Given the description of an element on the screen output the (x, y) to click on. 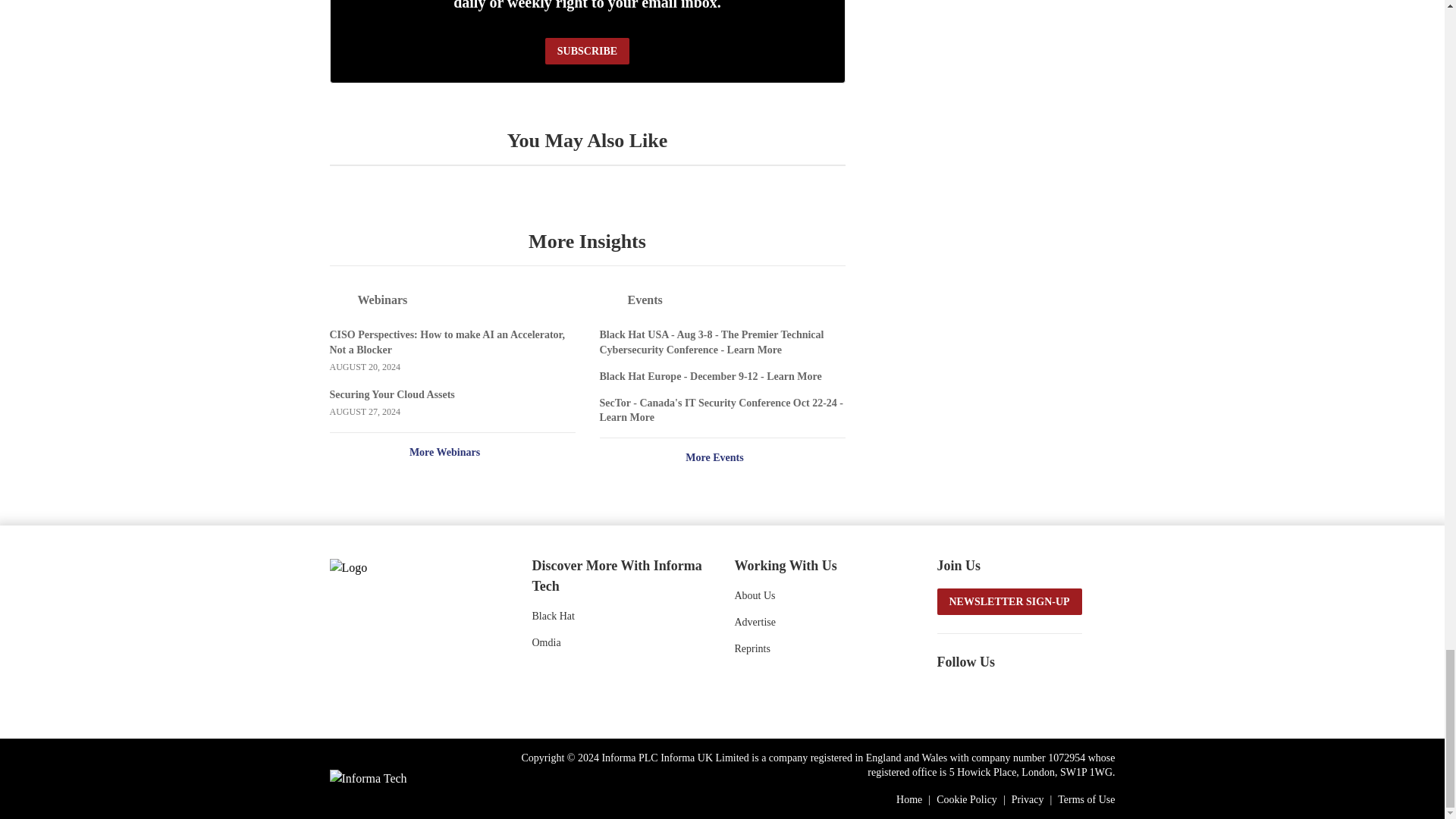
Logo (410, 566)
Informa Tech (367, 778)
